Given the description of an element on the screen output the (x, y) to click on. 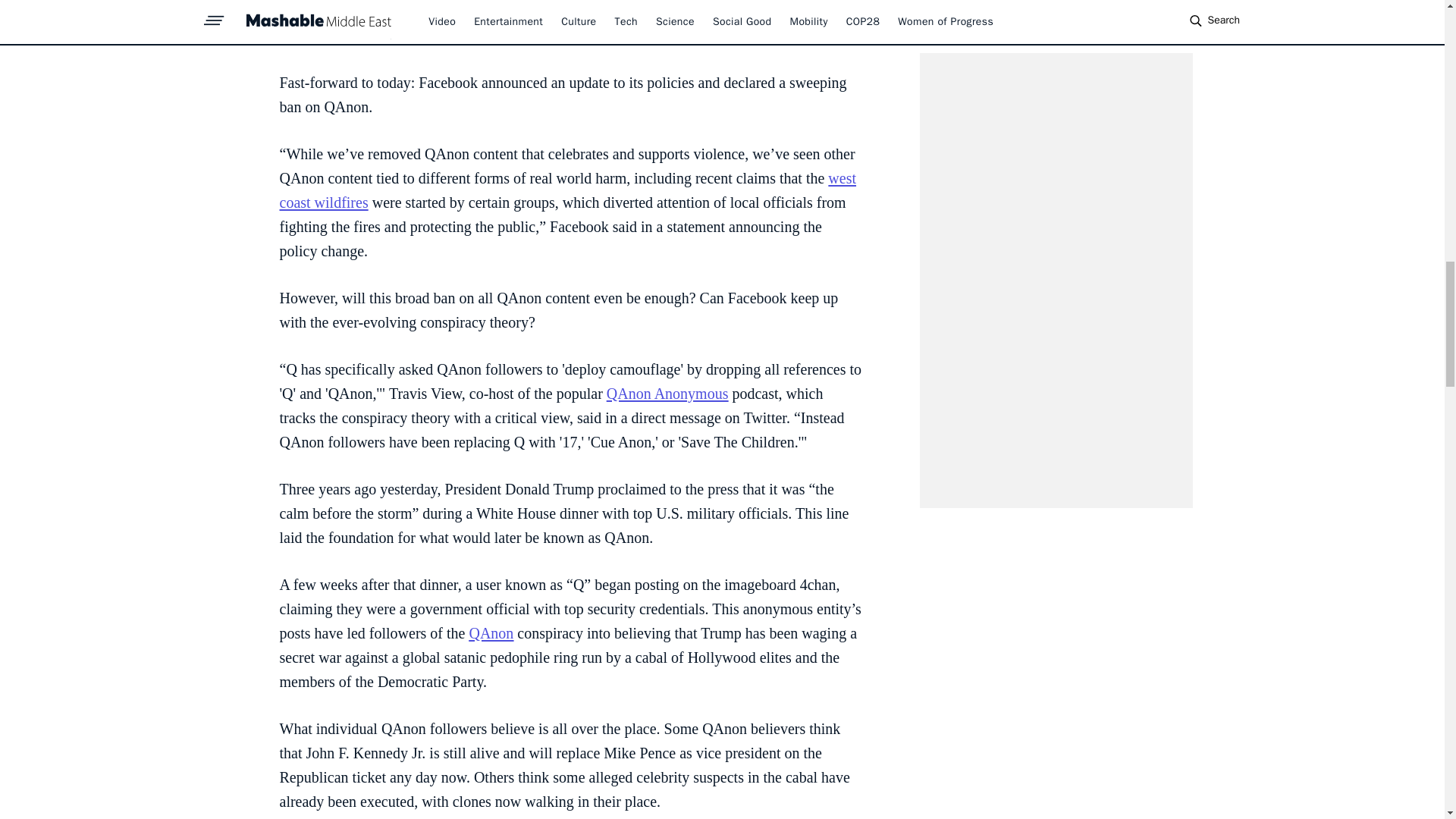
QAnon (490, 632)
west coast wildfires (567, 189)
QAnon Anonymous (668, 393)
Dangerous Individuals and Organizations (553, 35)
